Given the description of an element on the screen output the (x, y) to click on. 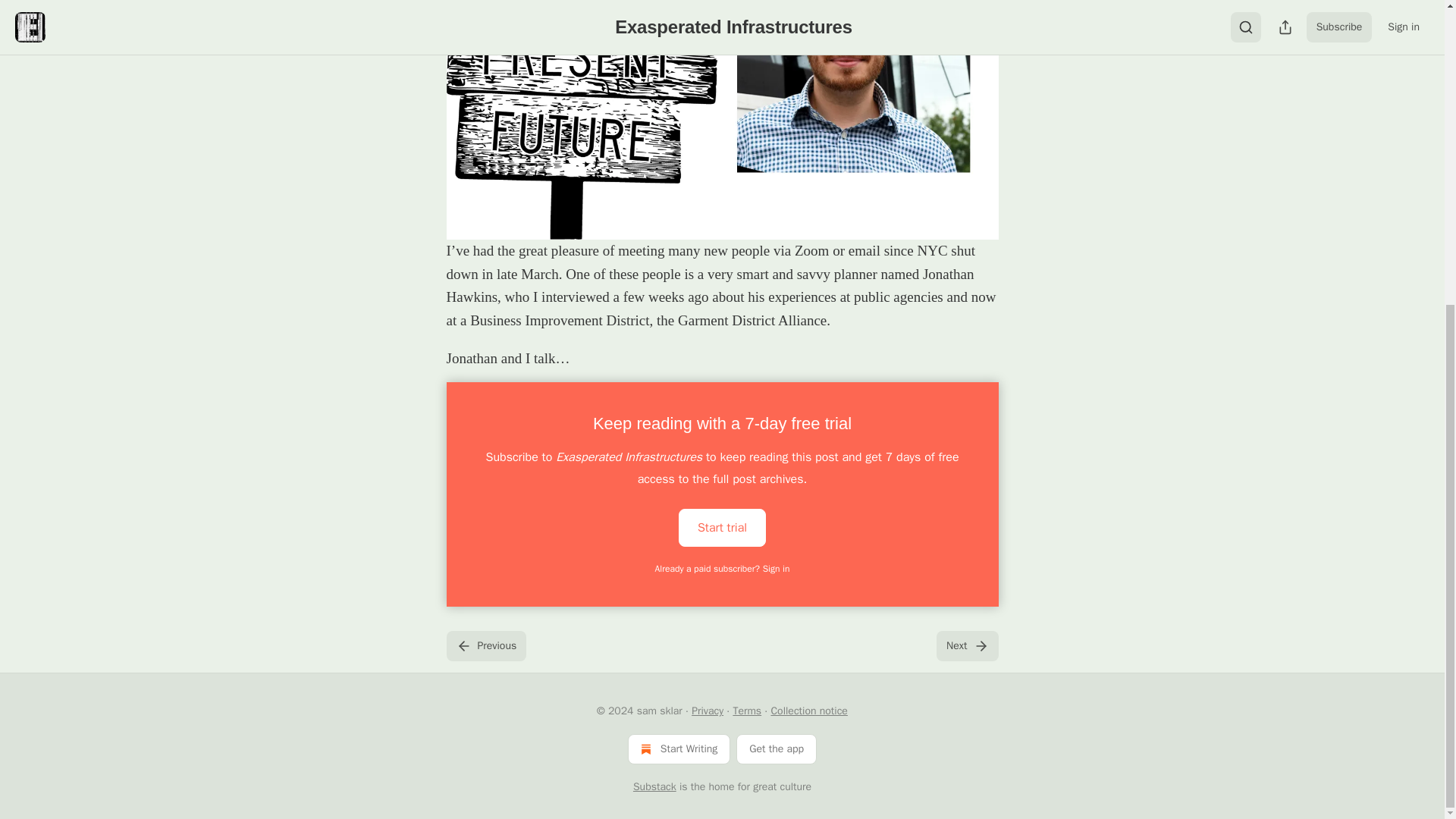
Get the app (776, 748)
Already a paid subscriber? Sign in (722, 568)
Start trial (721, 526)
Collection notice (808, 710)
Start Writing (678, 748)
Privacy (707, 710)
Substack (655, 786)
Terms (746, 710)
Next (966, 645)
Start trial (721, 527)
Previous (485, 645)
